Given the description of an element on the screen output the (x, y) to click on. 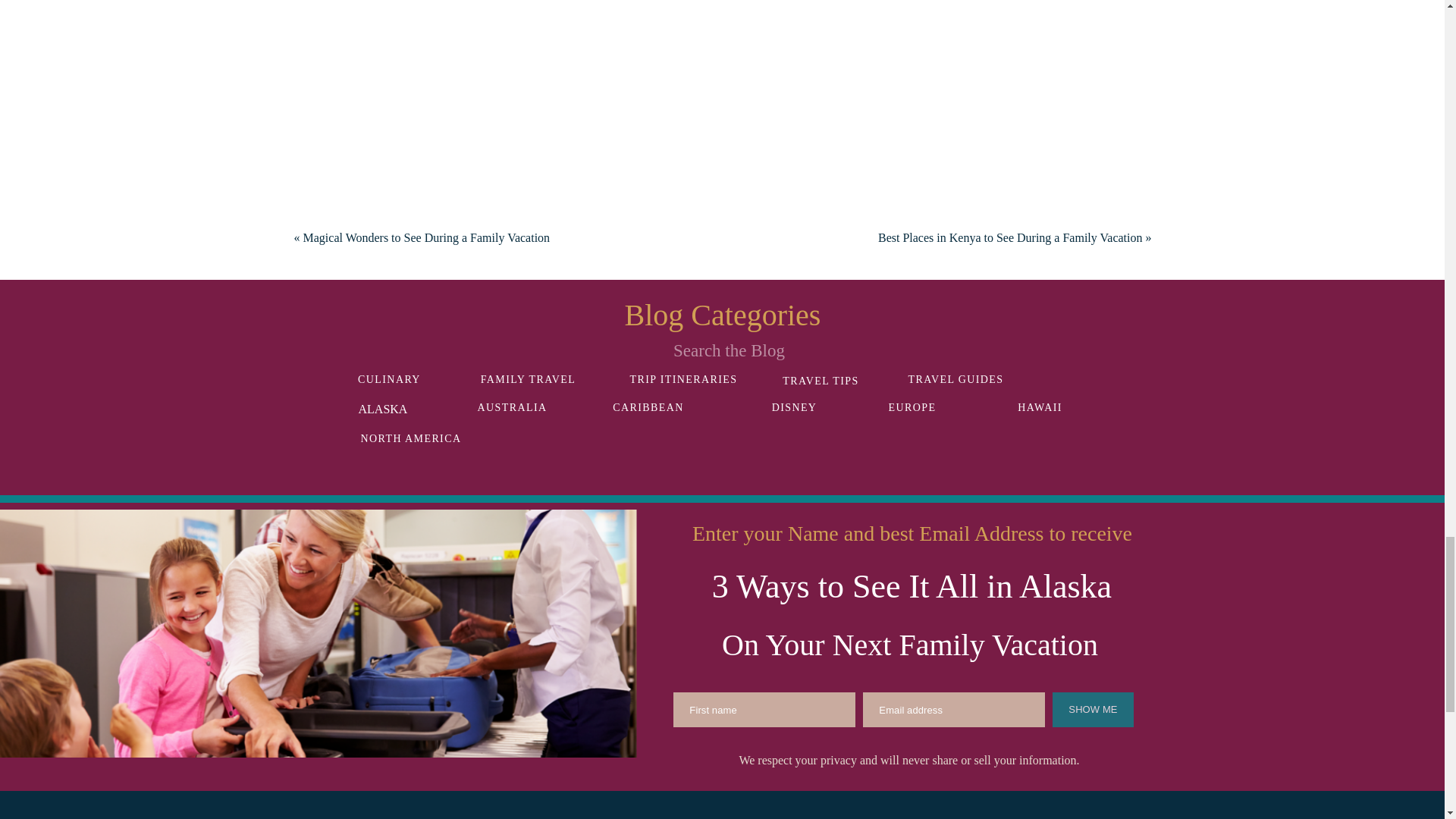
NORTH AMERICA (410, 438)
DISNEY (794, 407)
TRAVEL GUIDES (954, 379)
CULINARY (389, 379)
AUSTRALIA (512, 407)
CARIBBEAN (648, 407)
EUROPE (912, 407)
TRIP ITINERARIES (683, 379)
FAMILY TRAVEL (527, 379)
Magical Wonders to See During a Family Vacation (426, 237)
